Given the description of an element on the screen output the (x, y) to click on. 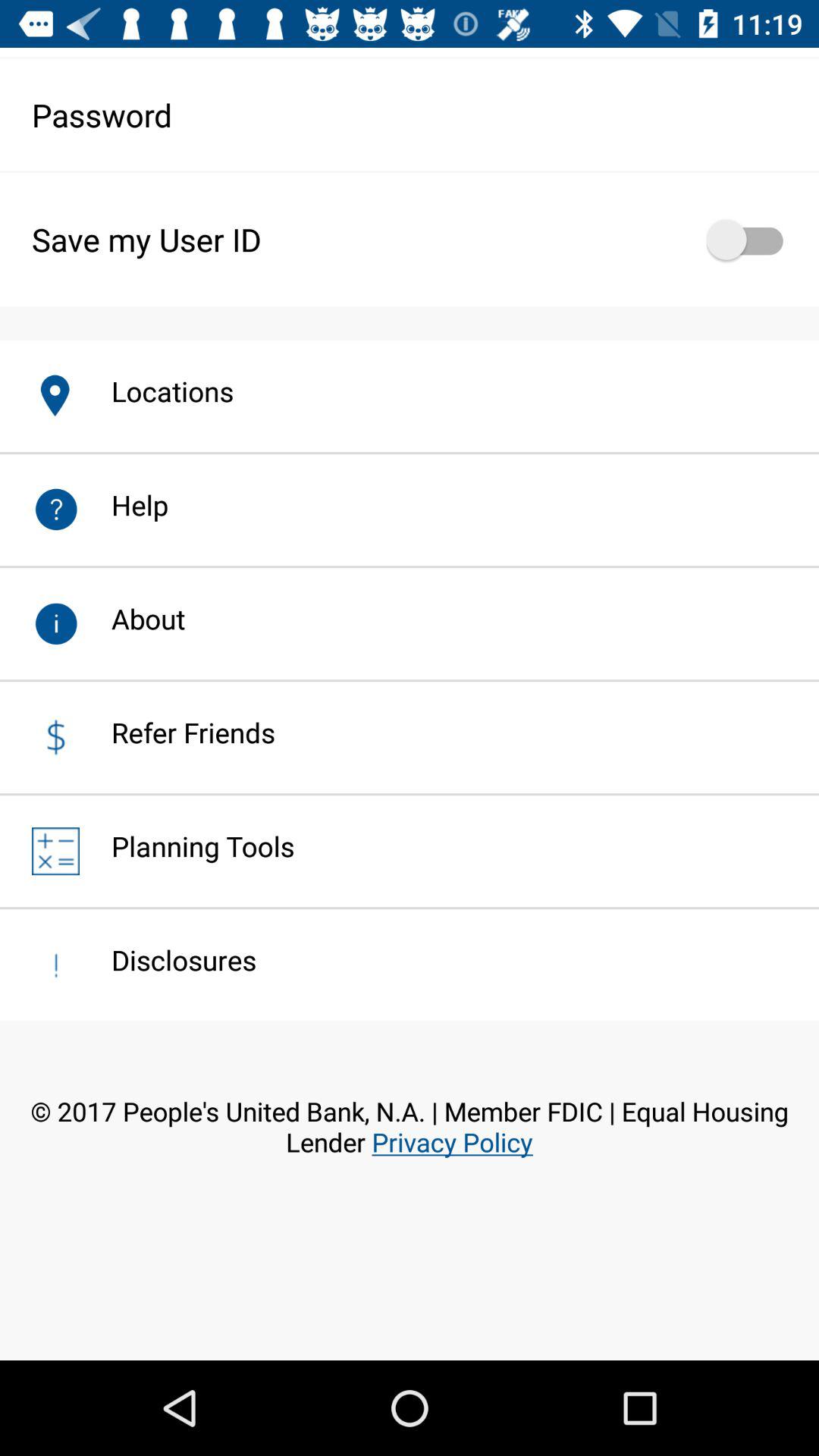
tap the help app (123, 504)
